Given the description of an element on the screen output the (x, y) to click on. 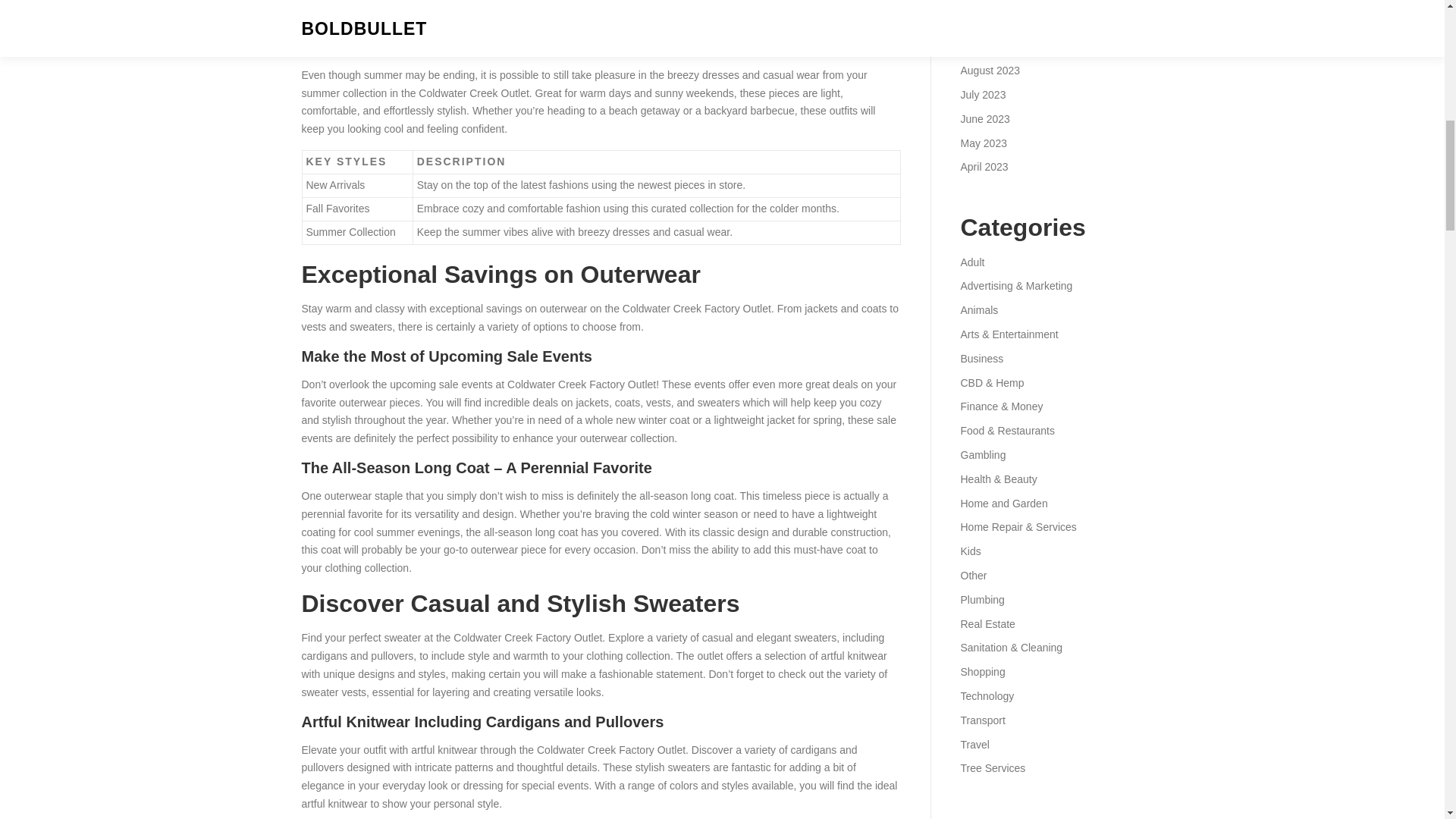
Adult (971, 262)
September 2023 (999, 46)
August 2023 (989, 70)
Gambling (982, 454)
June 2023 (984, 119)
November 2023 (997, 2)
May 2023 (982, 143)
Animals (978, 309)
October 2023 (992, 22)
Business (981, 358)
April 2023 (983, 166)
July 2023 (982, 94)
